Given the description of an element on the screen output the (x, y) to click on. 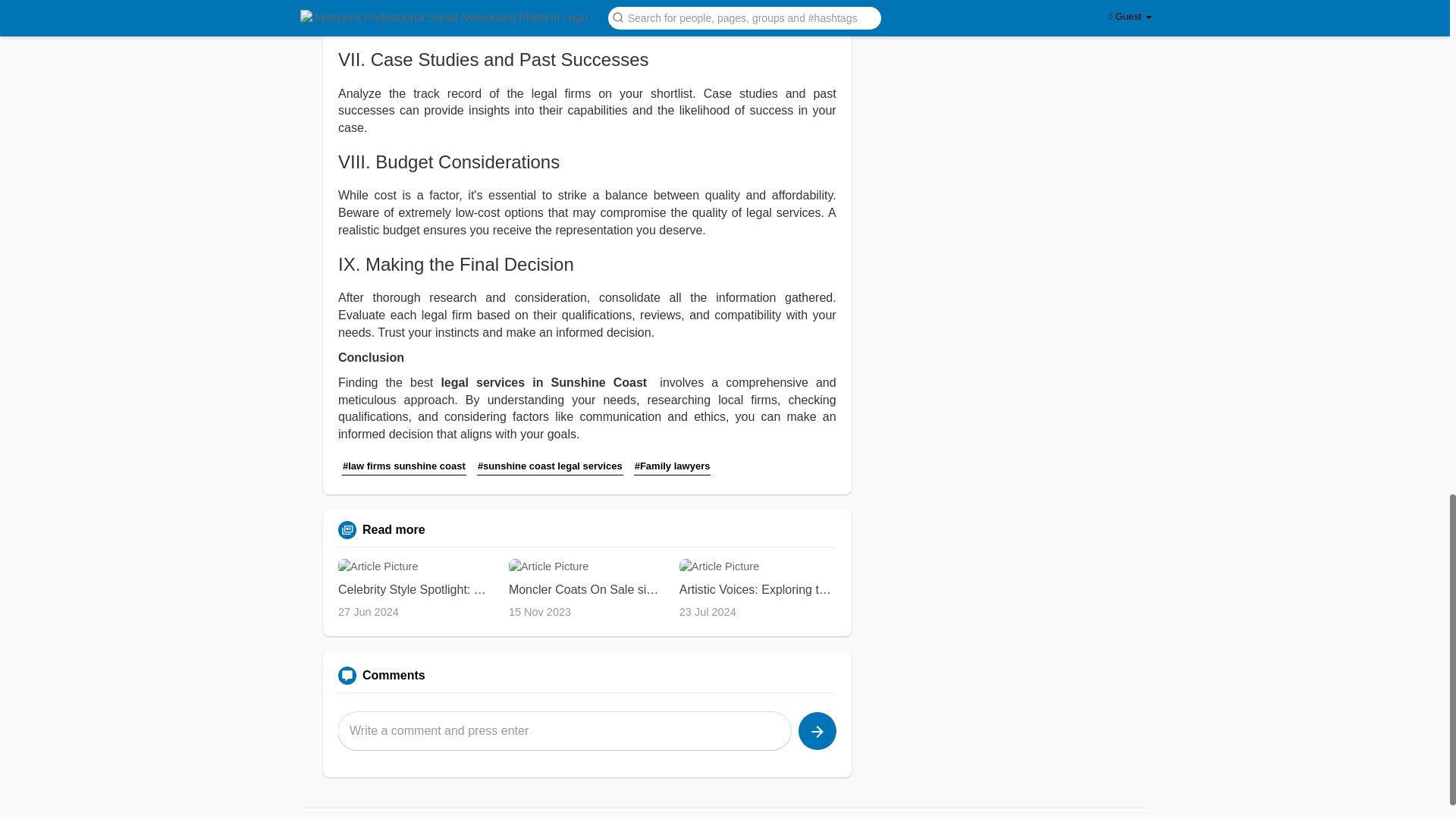
Post (816, 730)
Moncler Coats On Sale simple yet irreplaceable instants (586, 590)
